Given the description of an element on the screen output the (x, y) to click on. 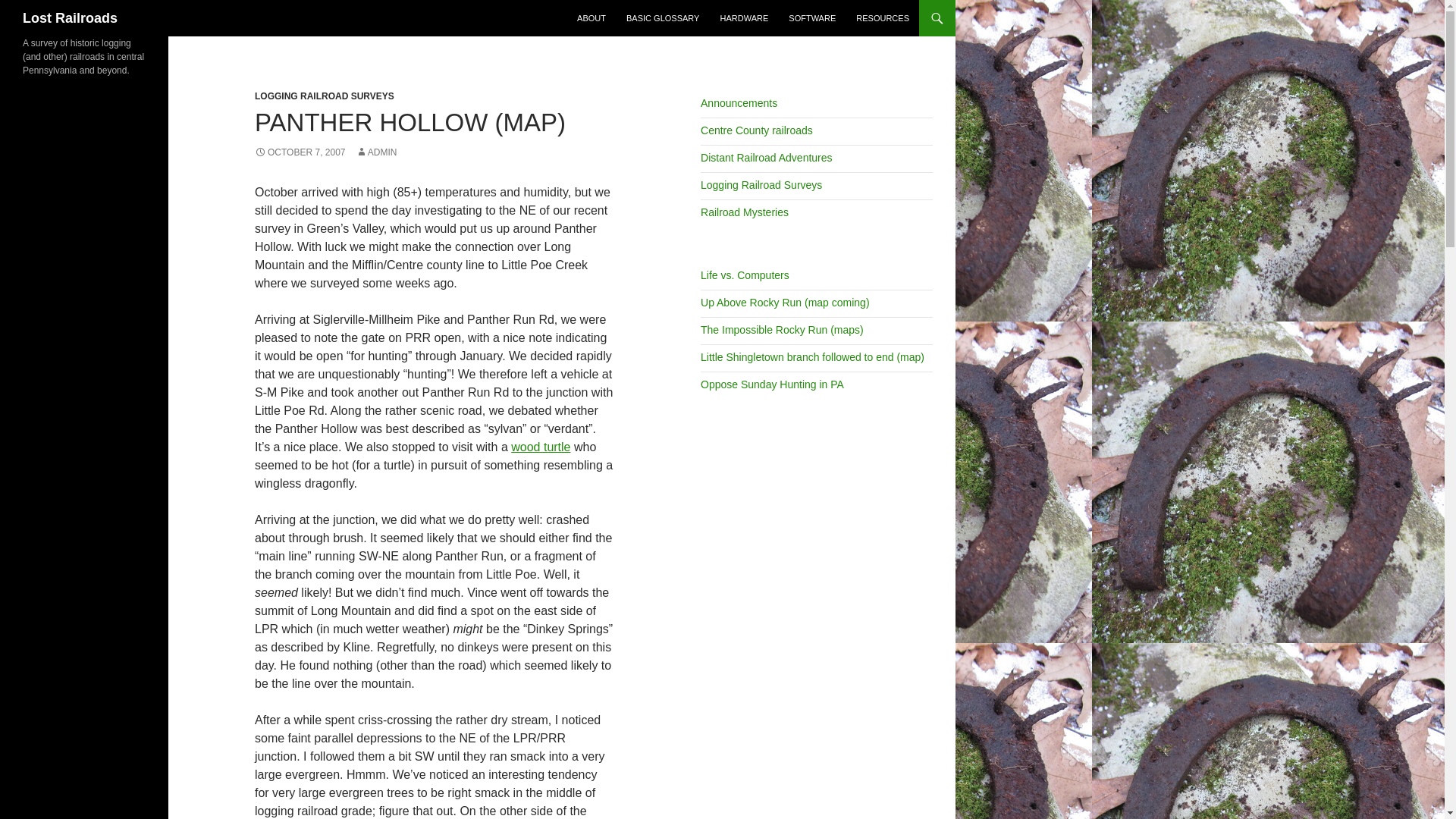
Centre County railroads (756, 130)
Announcements (738, 102)
ADMIN (376, 152)
LOGGING RAILROAD SURVEYS (324, 95)
SOFTWARE (811, 18)
Life vs. Computers (744, 275)
Oppose Sunday Hunting in PA (772, 384)
BASIC GLOSSARY (662, 18)
OCTOBER 7, 2007 (300, 152)
Distant Railroad Adventures (766, 157)
